Given the description of an element on the screen output the (x, y) to click on. 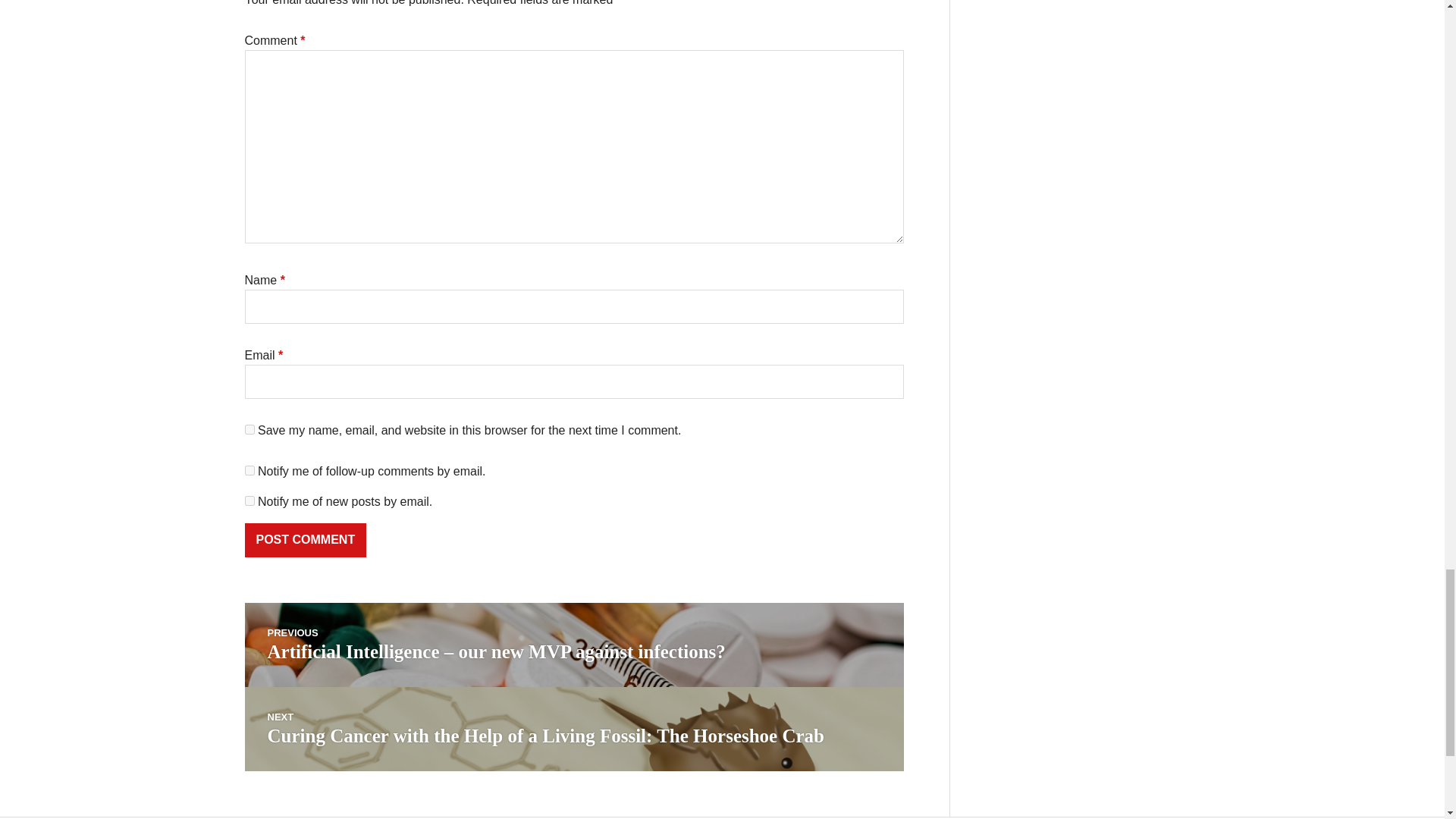
subscribe (248, 501)
Post Comment (305, 540)
yes (248, 429)
subscribe (248, 470)
